Given the description of an element on the screen output the (x, y) to click on. 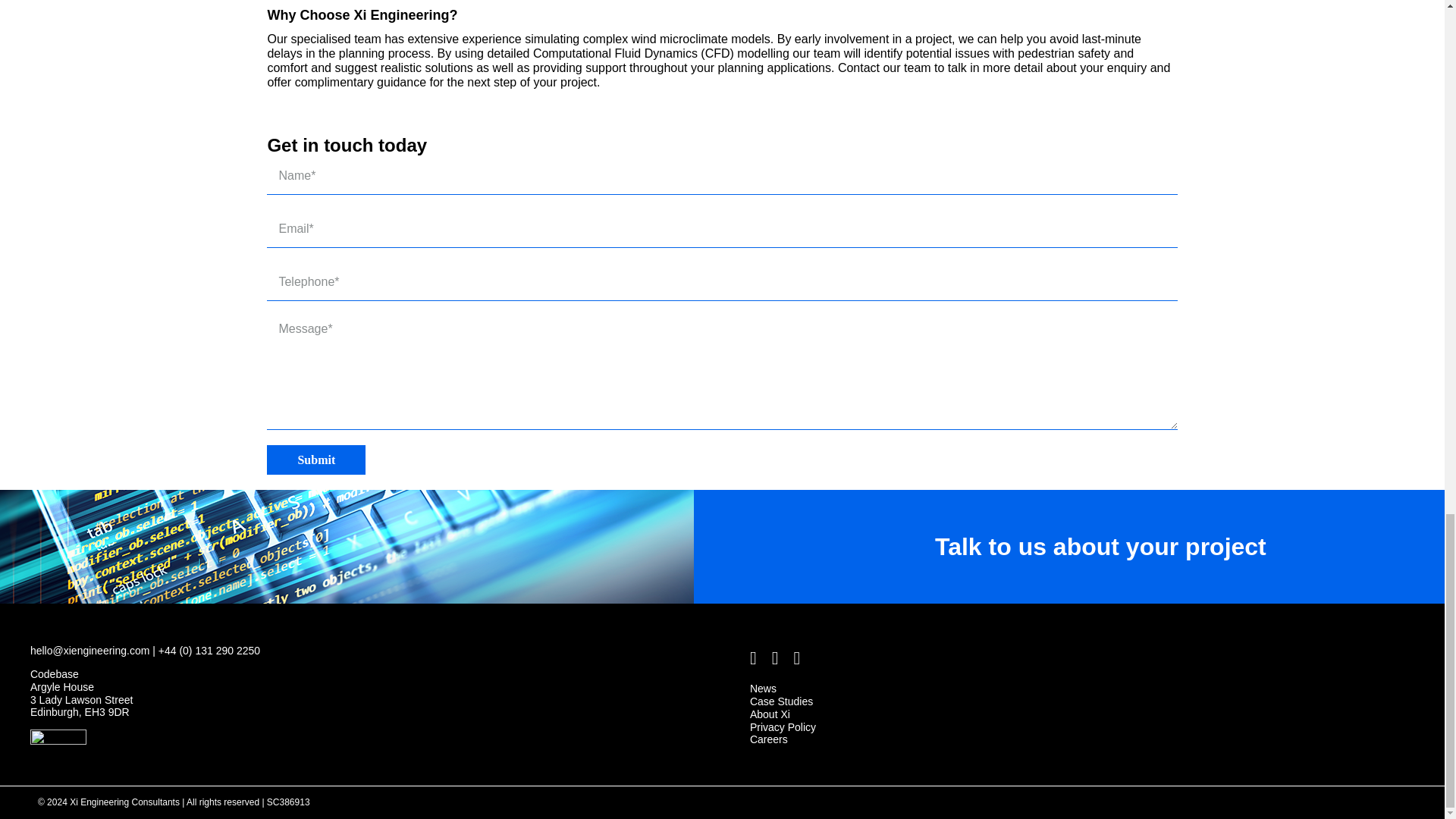
bsi-logo (57, 742)
Submit (315, 460)
ContactBannerA (347, 546)
